Given the description of an element on the screen output the (x, y) to click on. 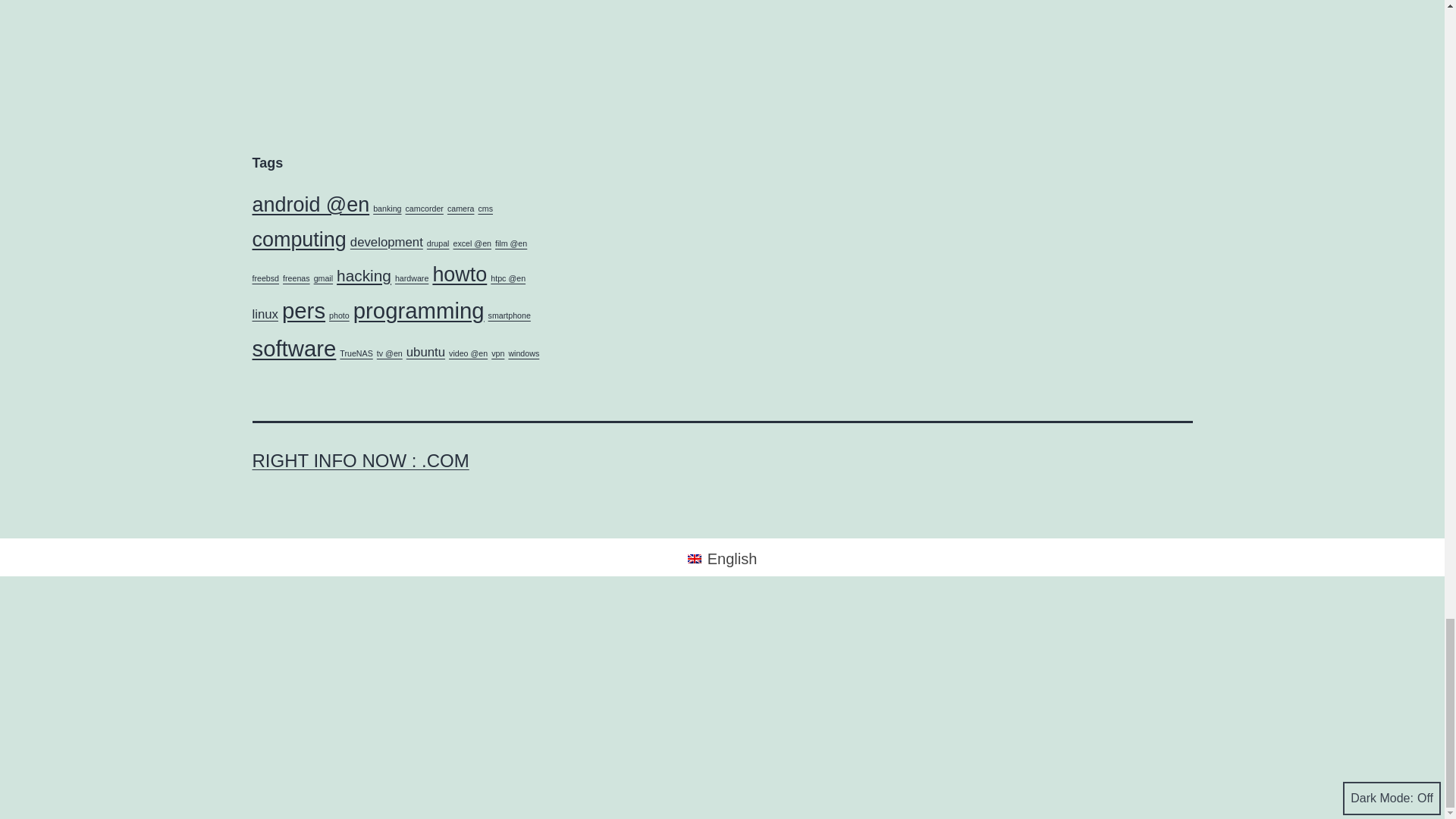
gmail (323, 277)
freebsd (265, 277)
hardware (411, 277)
drupal (437, 243)
freenas (296, 277)
howto (459, 273)
pers (303, 310)
software (293, 348)
vpn (497, 352)
